Given the description of an element on the screen output the (x, y) to click on. 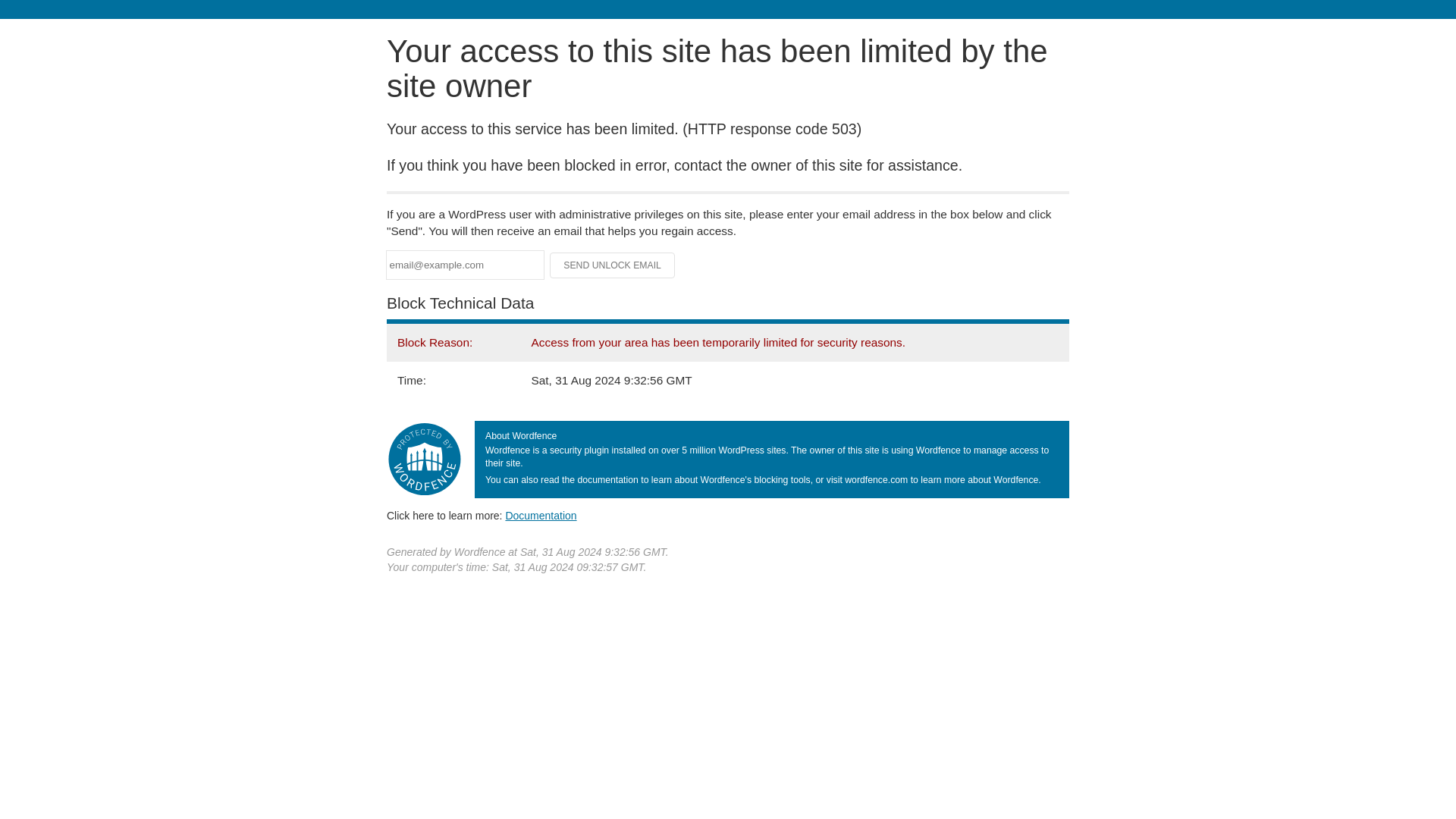
Send Unlock Email (612, 265)
Send Unlock Email (612, 265)
Documentation (540, 515)
